Given the description of an element on the screen output the (x, y) to click on. 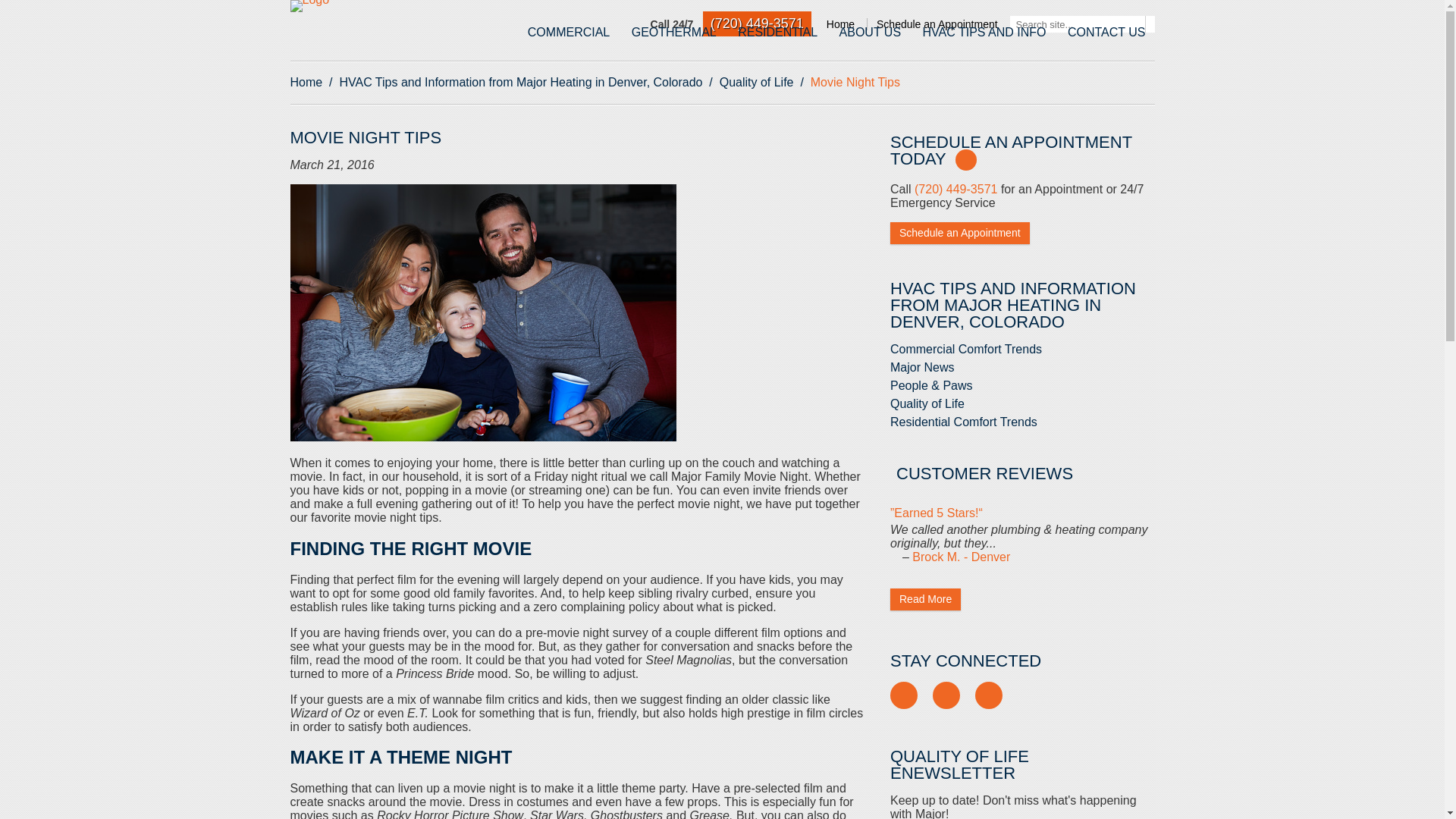
Schedule an Appointment (936, 24)
COMMERCIAL (568, 32)
Home (840, 24)
GEOTHERMAL (674, 32)
Quality of Life (756, 82)
RESIDENTIAL (778, 32)
Go to Denver HVAC Company - Major Heating and Cooling. (305, 82)
